Given the description of an element on the screen output the (x, y) to click on. 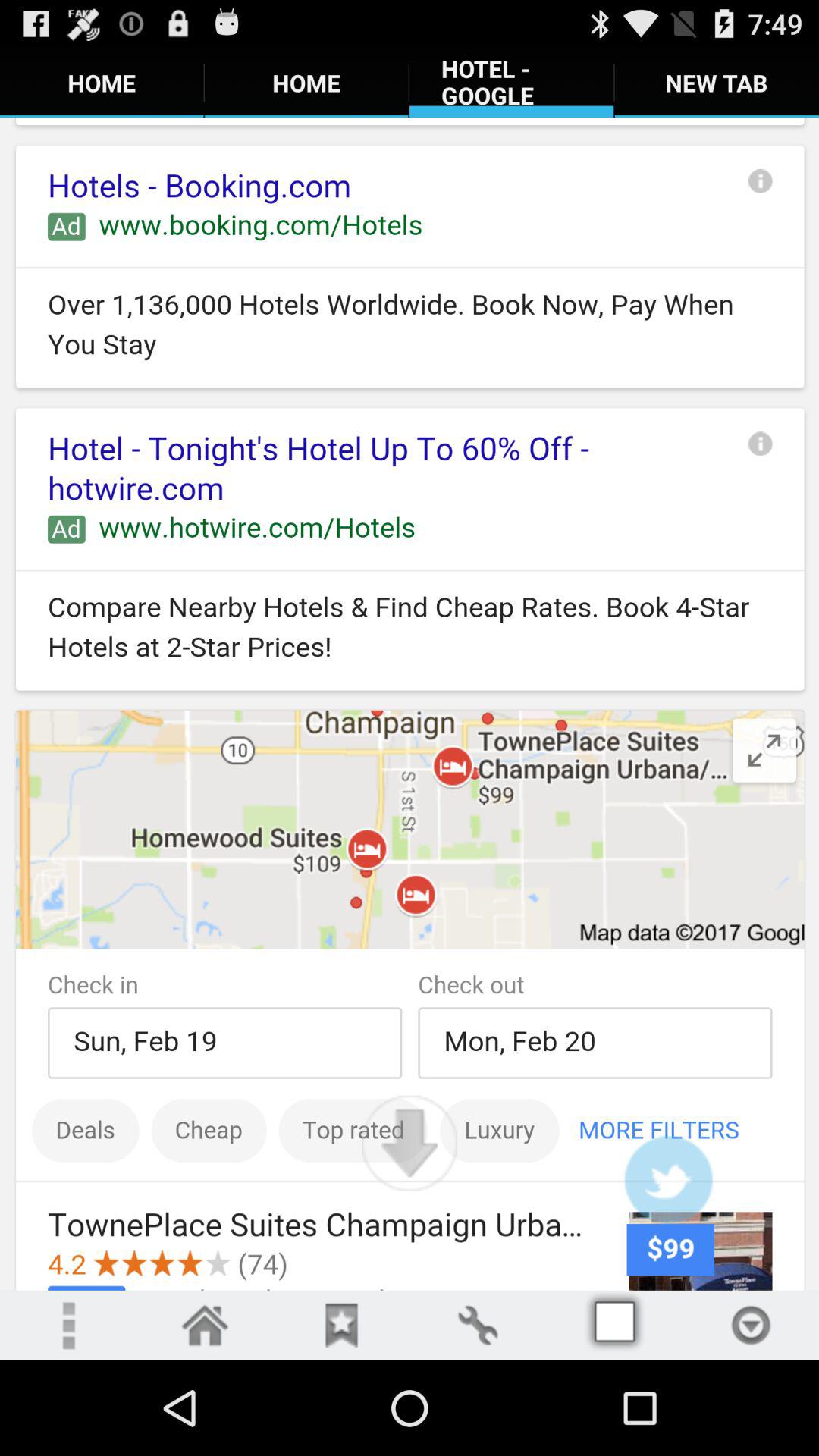
open more settings (68, 1325)
